Given the description of an element on the screen output the (x, y) to click on. 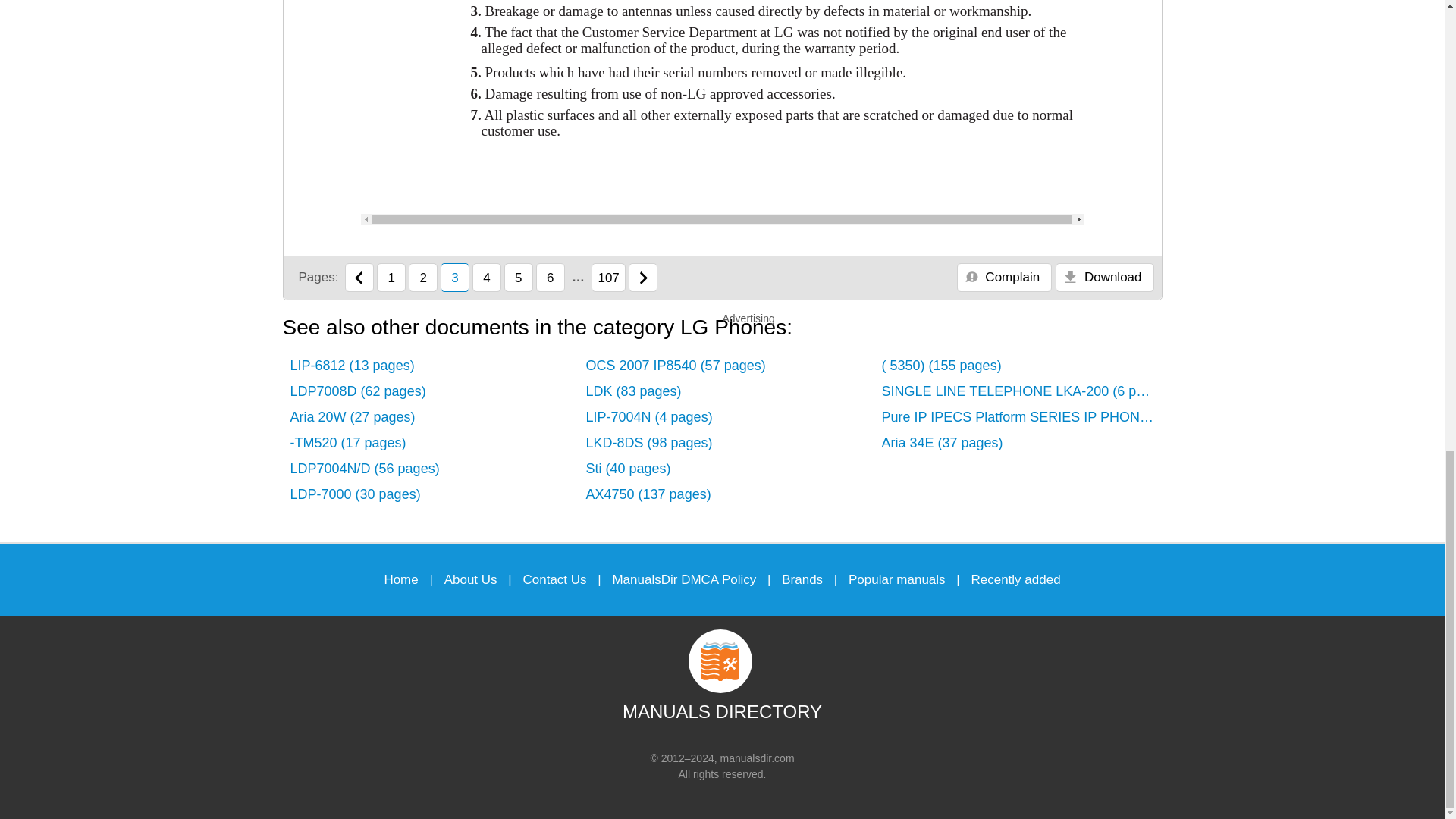
Download Manual (1104, 276)
Report a broken manual (1004, 276)
